Given the description of an element on the screen output the (x, y) to click on. 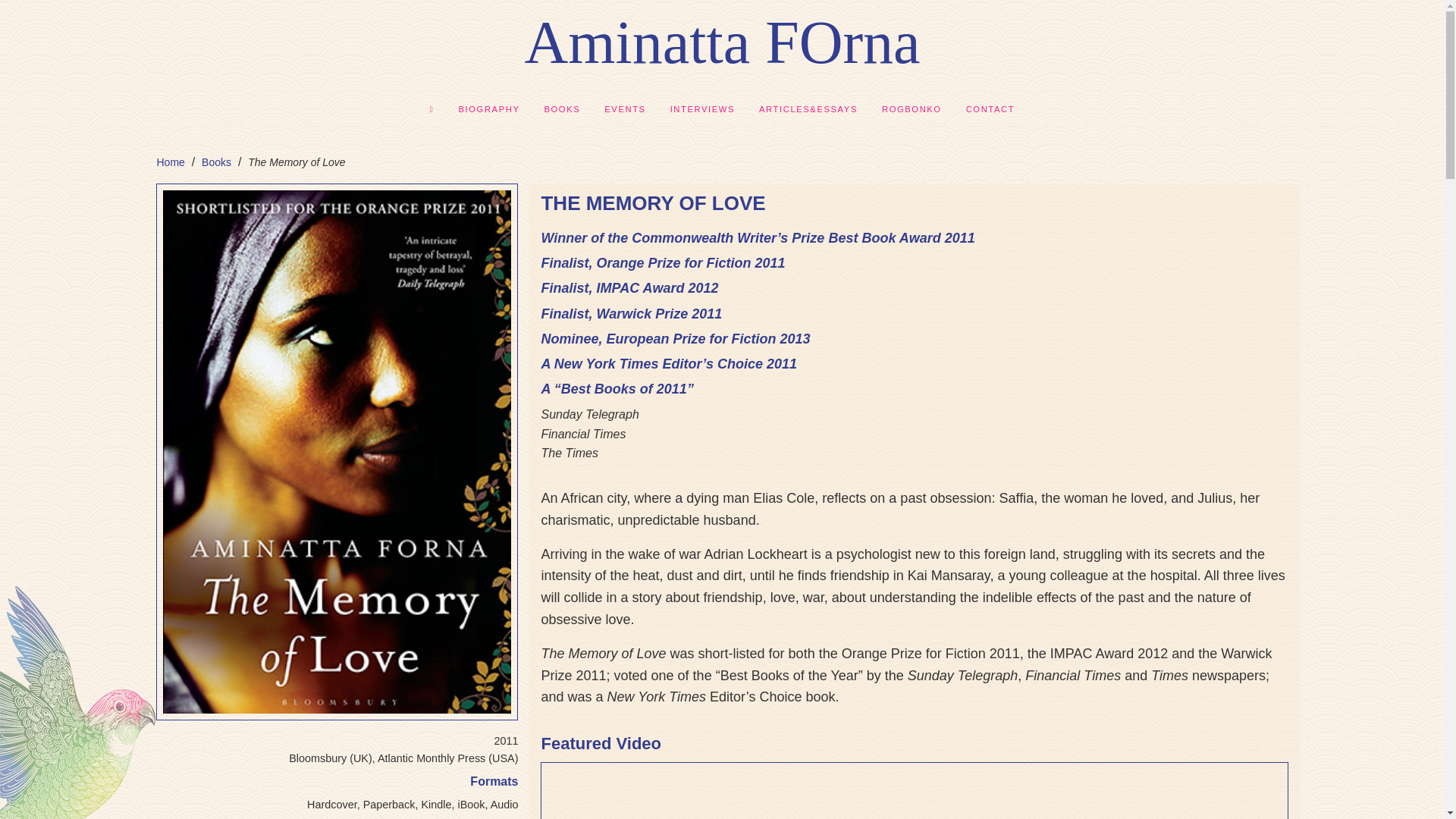
BOOKS (561, 109)
Upcoming events and appearances (625, 109)
CONTACT (989, 109)
INTERVIEWS (702, 109)
ROGBONKO (911, 109)
About Aminatta Forna (489, 109)
How to contact Aminatta Forna (989, 109)
EVENTS (625, 109)
Details about Aminatta Forna's books. (216, 162)
